Given the description of an element on the screen output the (x, y) to click on. 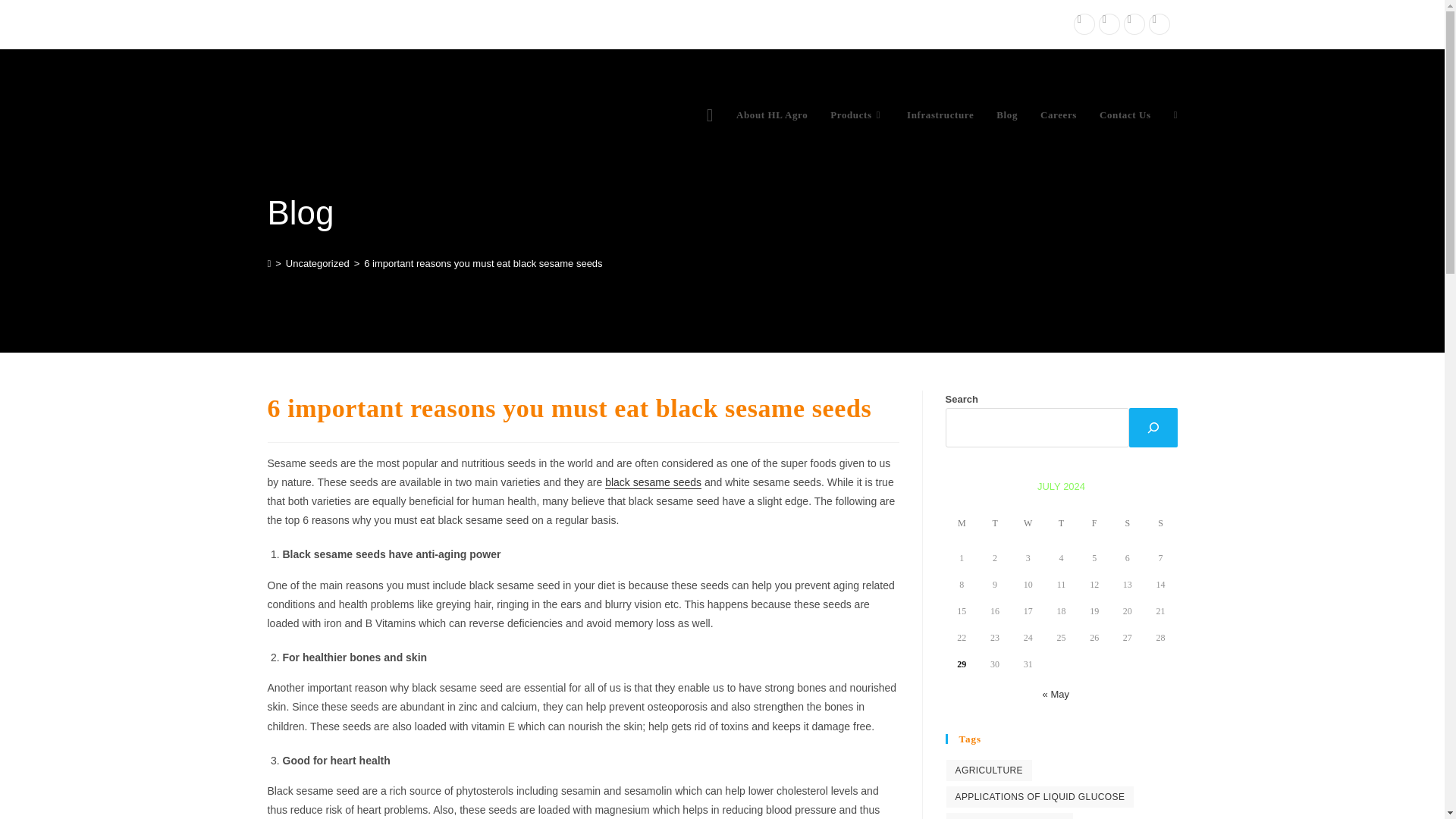
Contact Us (1124, 114)
Infrastructure (940, 114)
Careers (1058, 114)
About HL Agro (771, 114)
Monday (961, 524)
Wednesday (1028, 524)
Friday (1093, 524)
Tuesday (994, 524)
Saturday (1127, 524)
Sunday (1160, 524)
Thursday (1061, 524)
Products (856, 114)
